Given the description of an element on the screen output the (x, y) to click on. 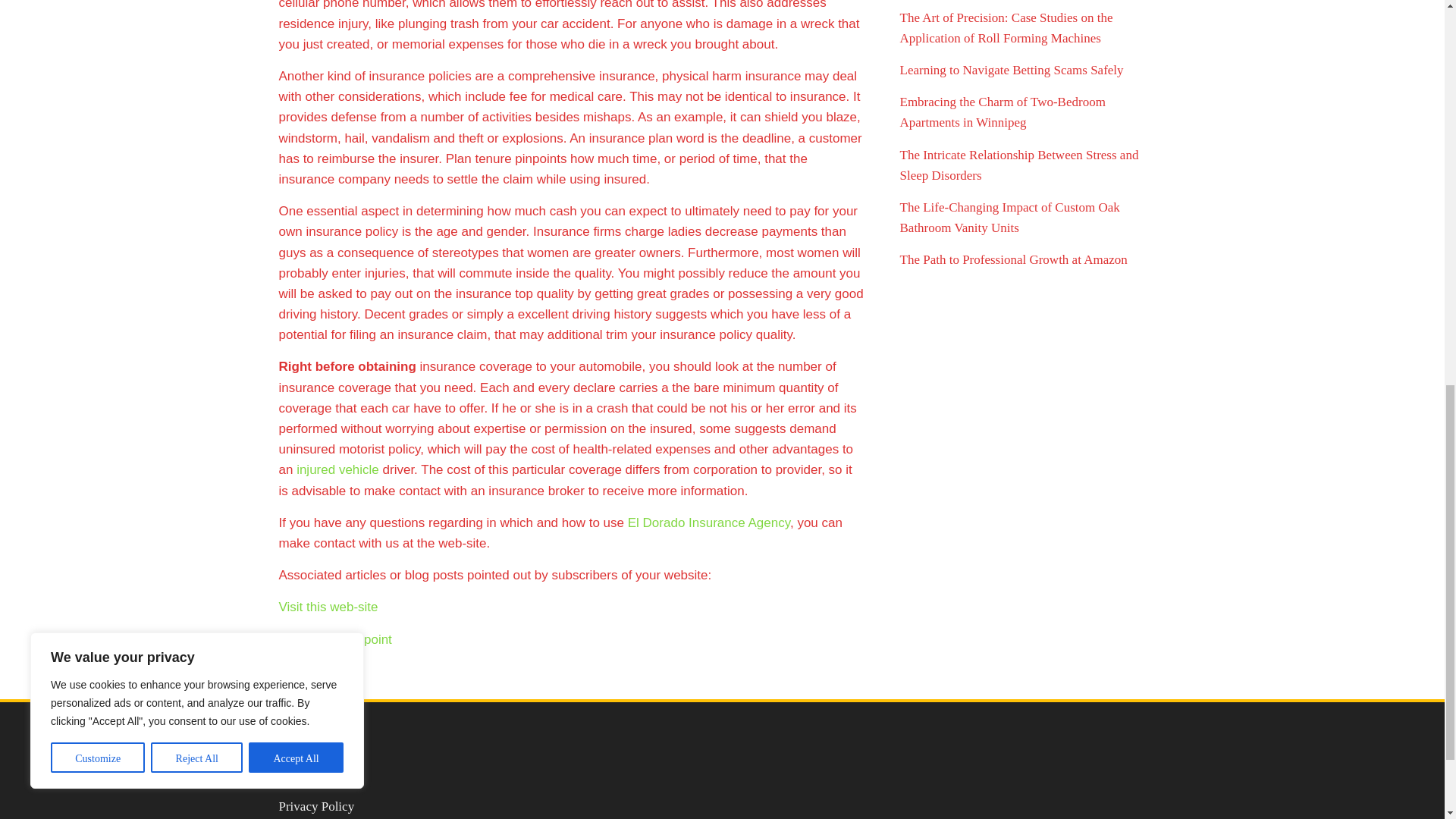
El Dorado Insurance Agency (708, 522)
Learning to Navigate Betting Scams Safely (1010, 69)
Visit this web-site (328, 606)
he has a good point (335, 639)
injured vehicle (337, 469)
